Given the description of an element on the screen output the (x, y) to click on. 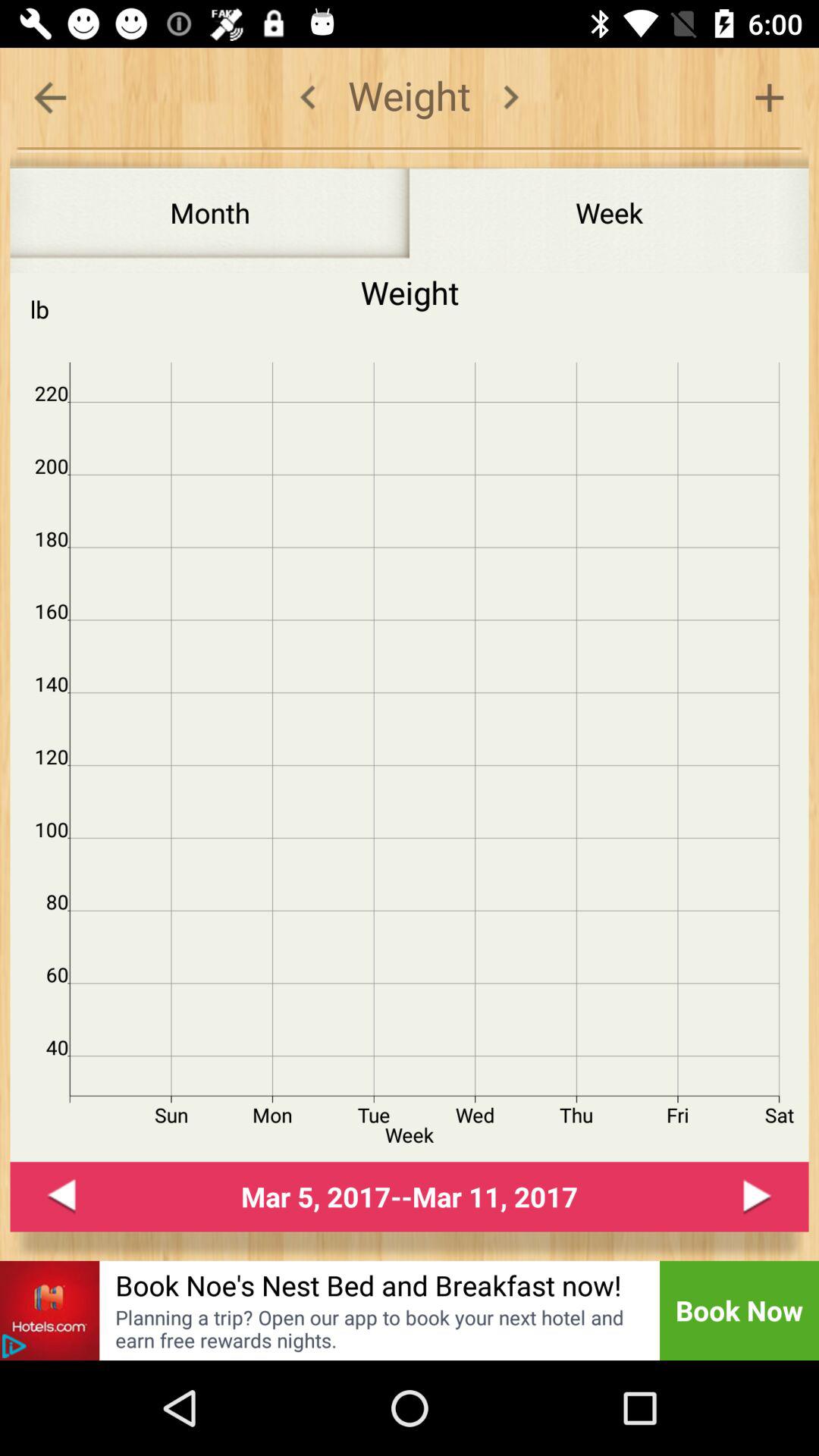
take to another menu (49, 97)
